Given the description of an element on the screen output the (x, y) to click on. 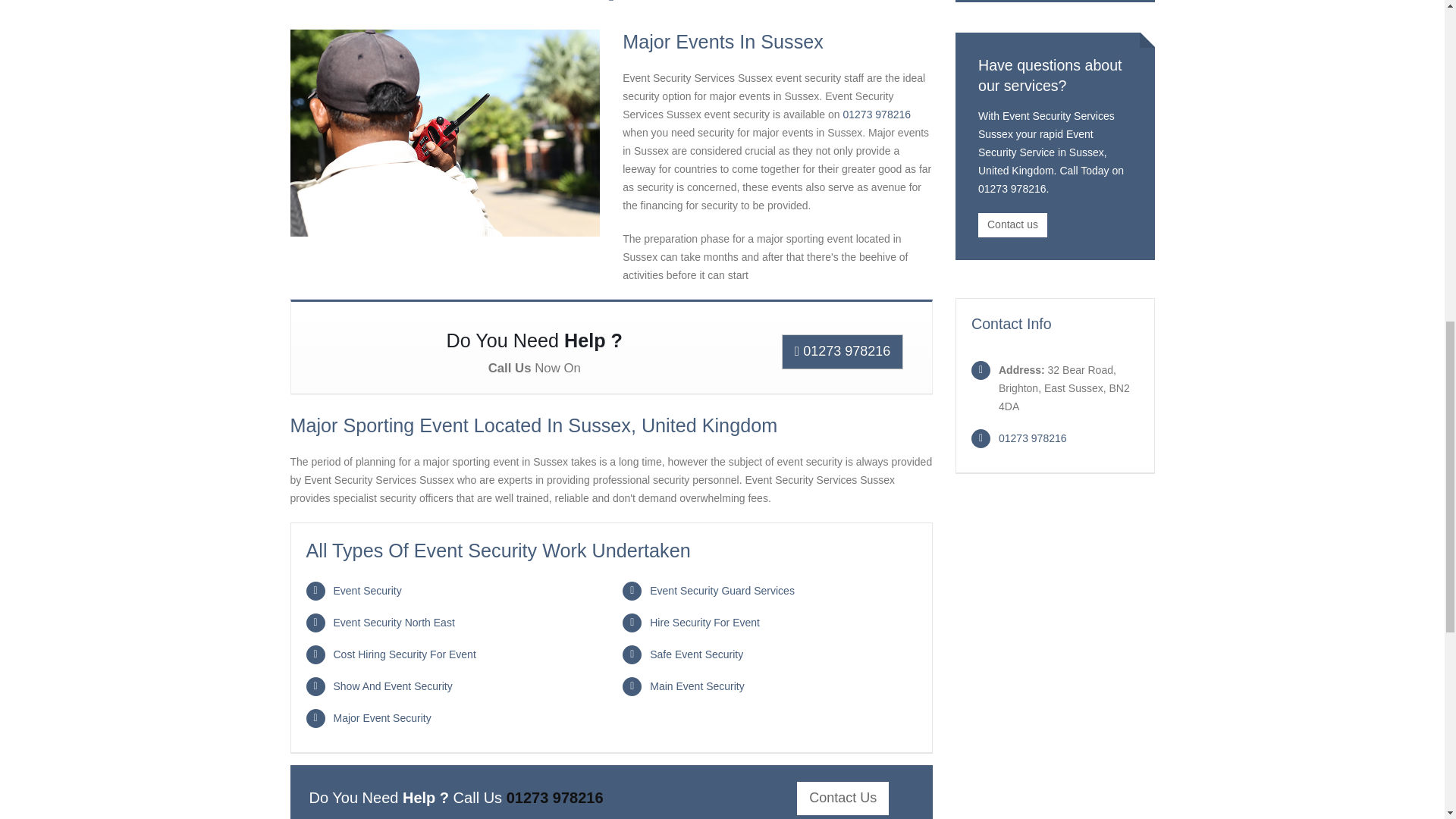
Contact us (1012, 224)
Event Security Guard Services (721, 590)
Contact Us (842, 798)
01273 978216 (1032, 438)
Major Event Security (381, 717)
Event Security (367, 590)
Hire Security For Event (704, 622)
01273 978216 (842, 351)
01273 978216 (555, 797)
01273 978216 (877, 114)
